Given the description of an element on the screen output the (x, y) to click on. 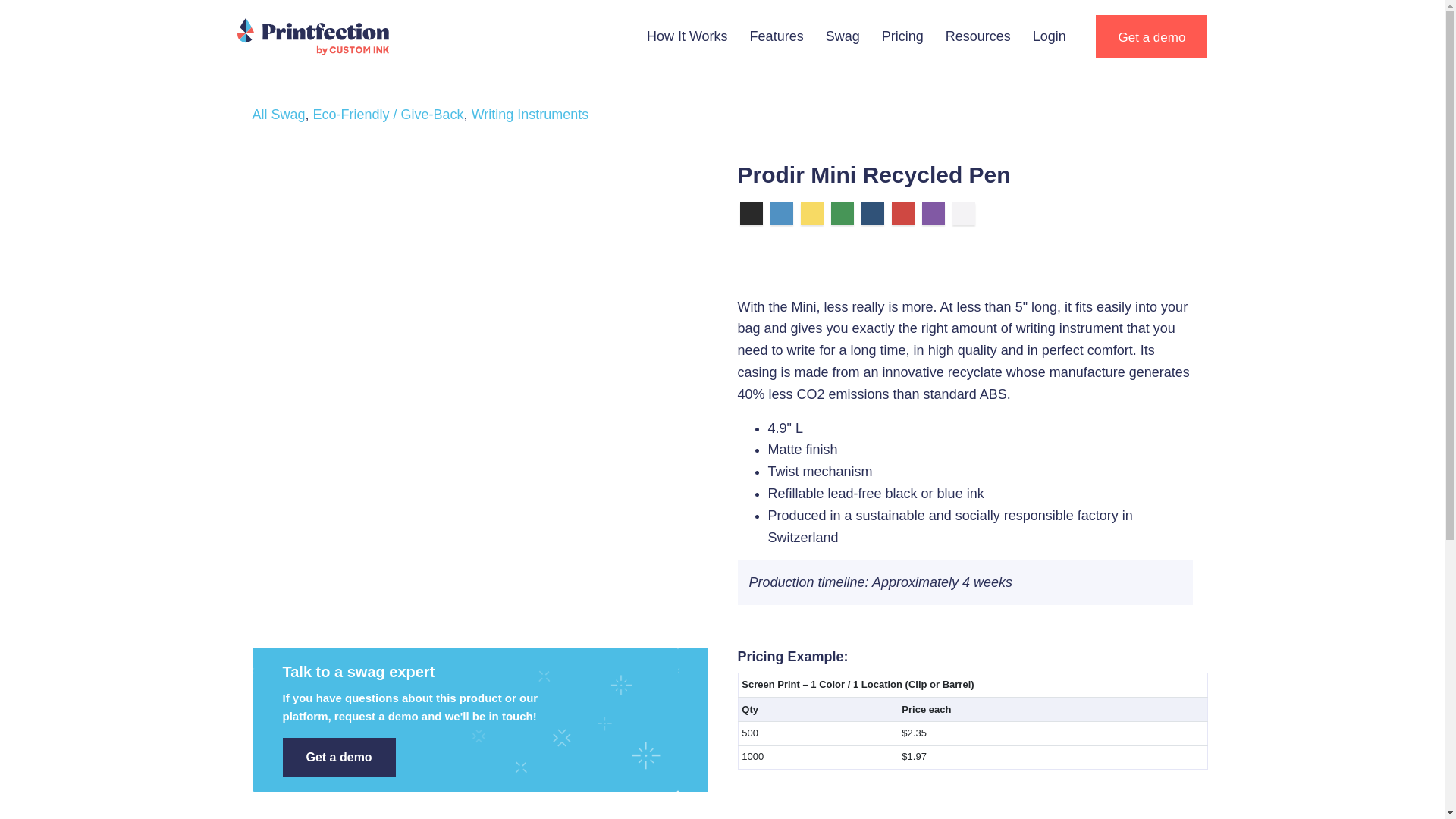
Features (776, 36)
Get a demo (1151, 36)
Swag (842, 36)
Pricing (902, 36)
How It Works (687, 36)
Resources (978, 36)
Login (1049, 36)
